Given the description of an element on the screen output the (x, y) to click on. 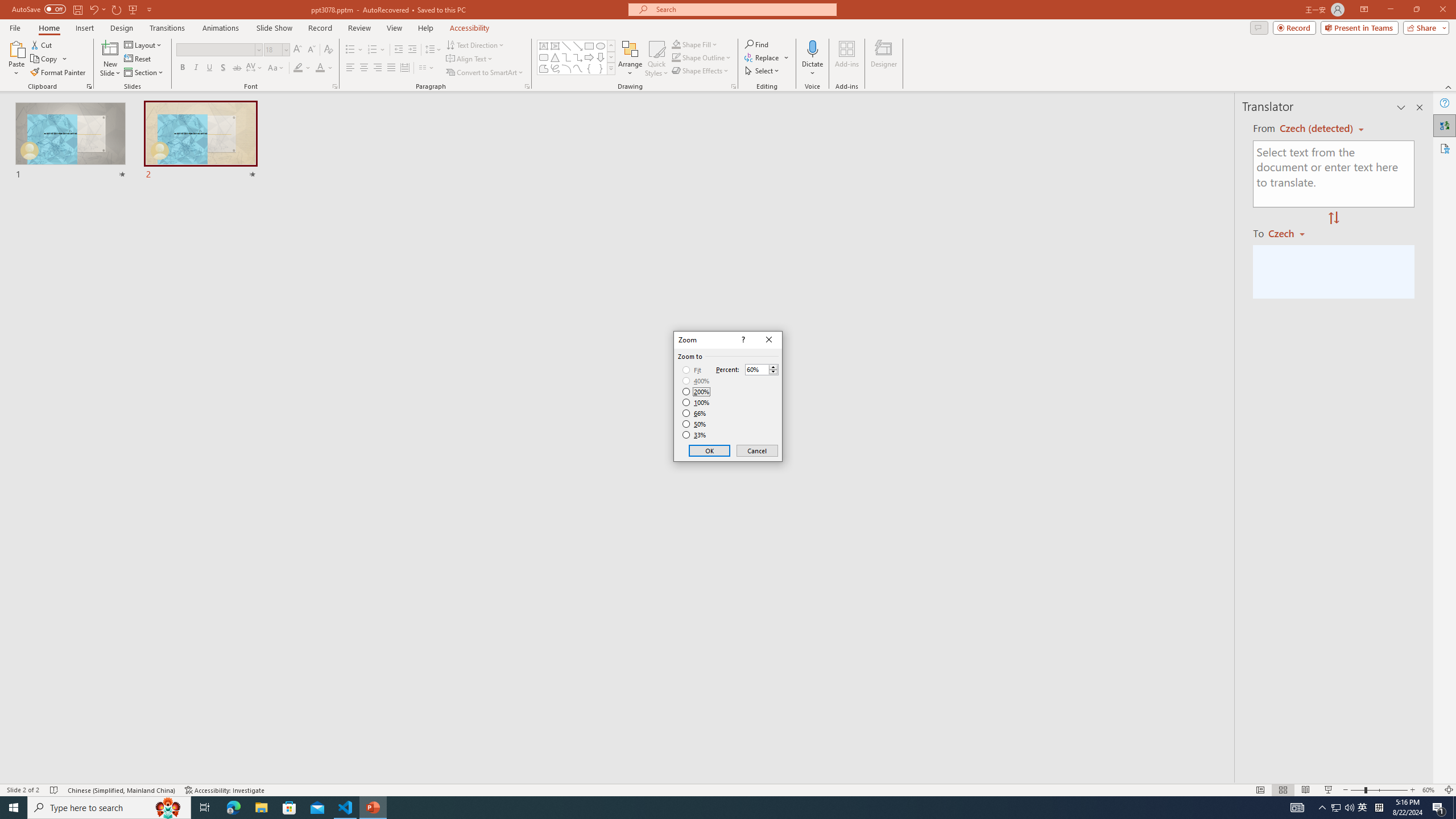
Shape Fill Dark Green, Accent 2 (675, 44)
OK (709, 450)
